Given the description of an element on the screen output the (x, y) to click on. 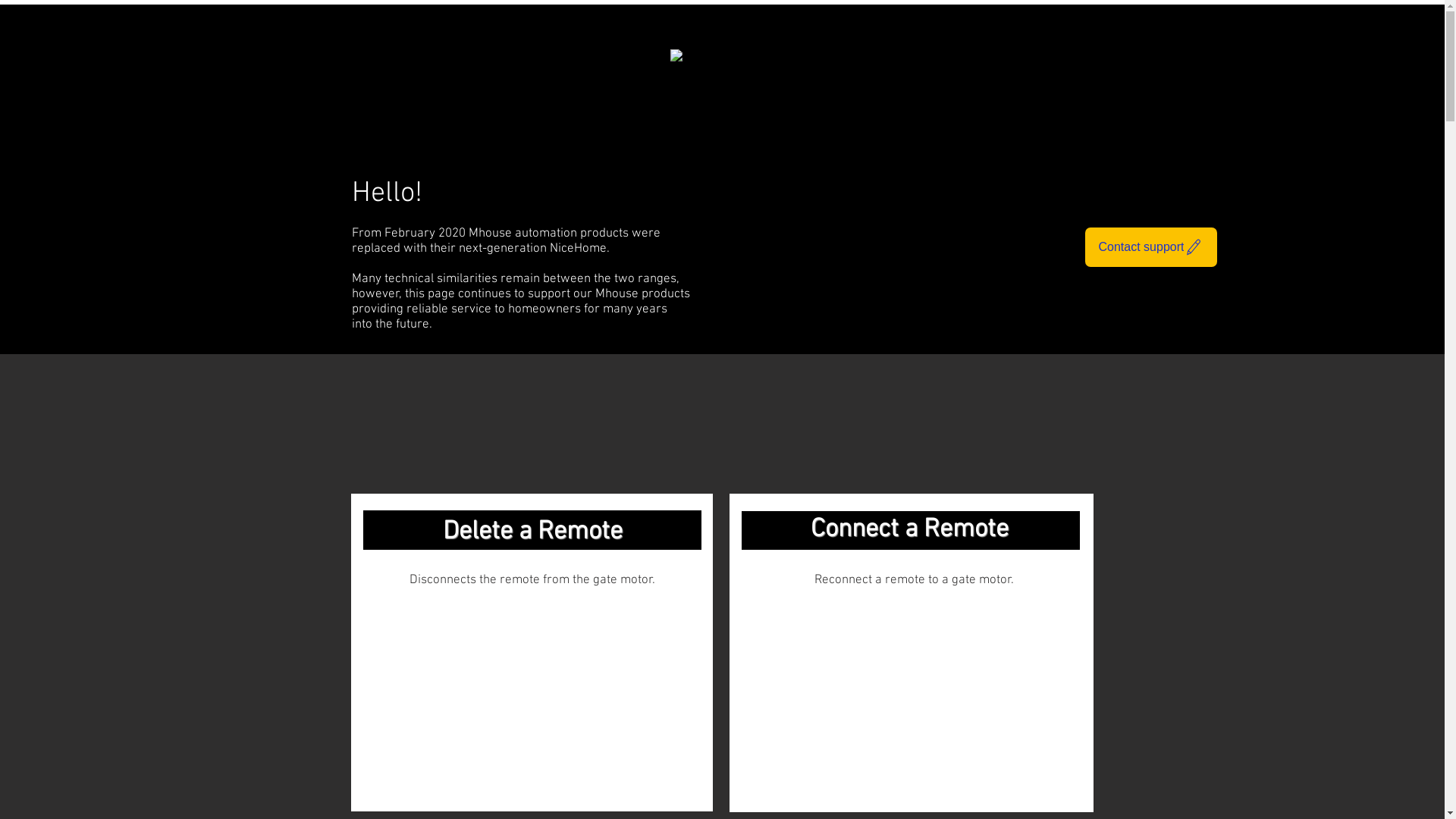
External YouTube Element type: hover (911, 704)
External YouTube Element type: hover (531, 703)
Contact support Element type: text (1151, 246)
